Given the description of an element on the screen output the (x, y) to click on. 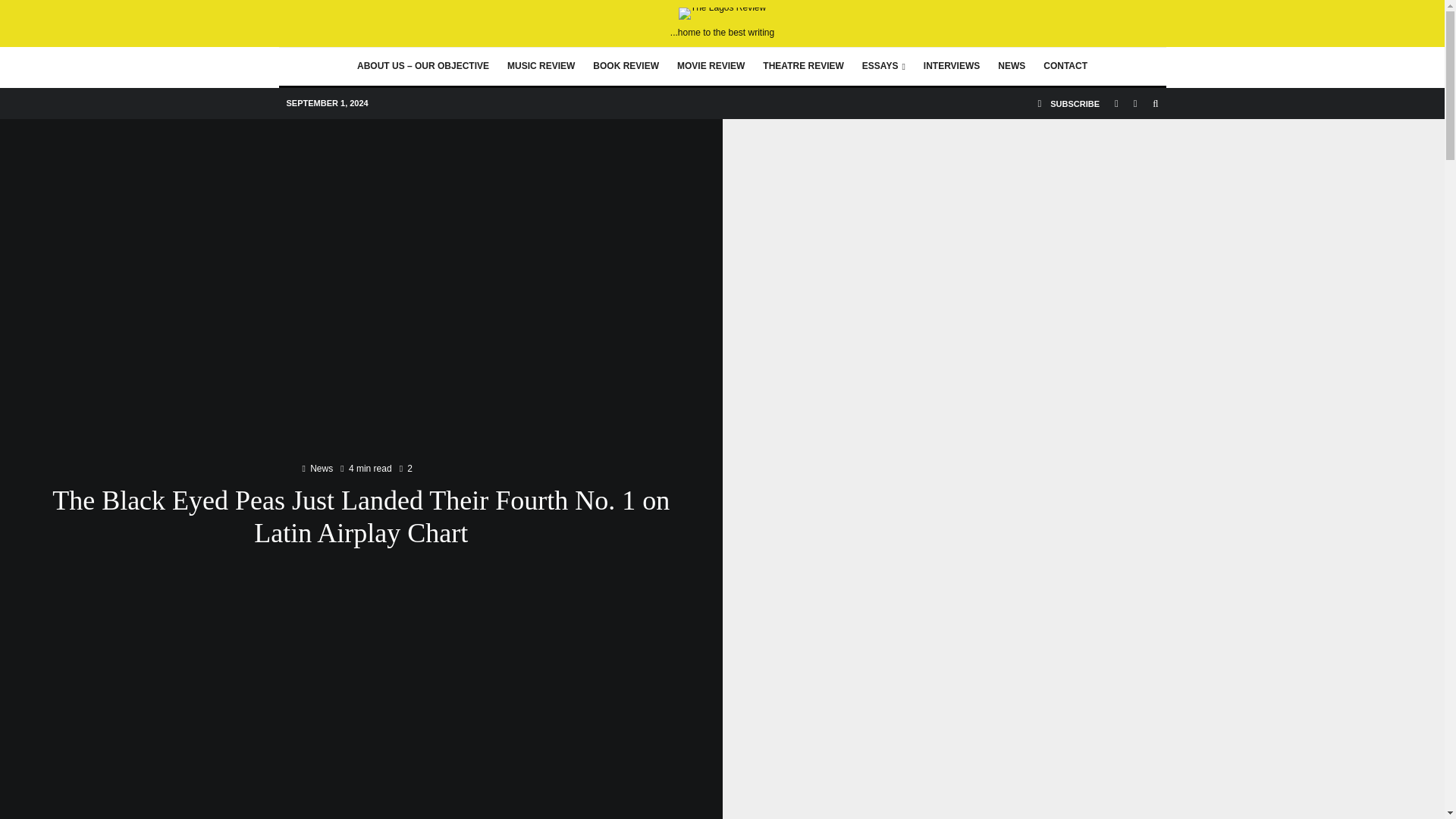
BOOK REVIEW (625, 66)
MOVIE REVIEW (711, 66)
THEATRE REVIEW (802, 66)
...home to the best writing (721, 23)
MUSIC REVIEW (540, 66)
